Given the description of an element on the screen output the (x, y) to click on. 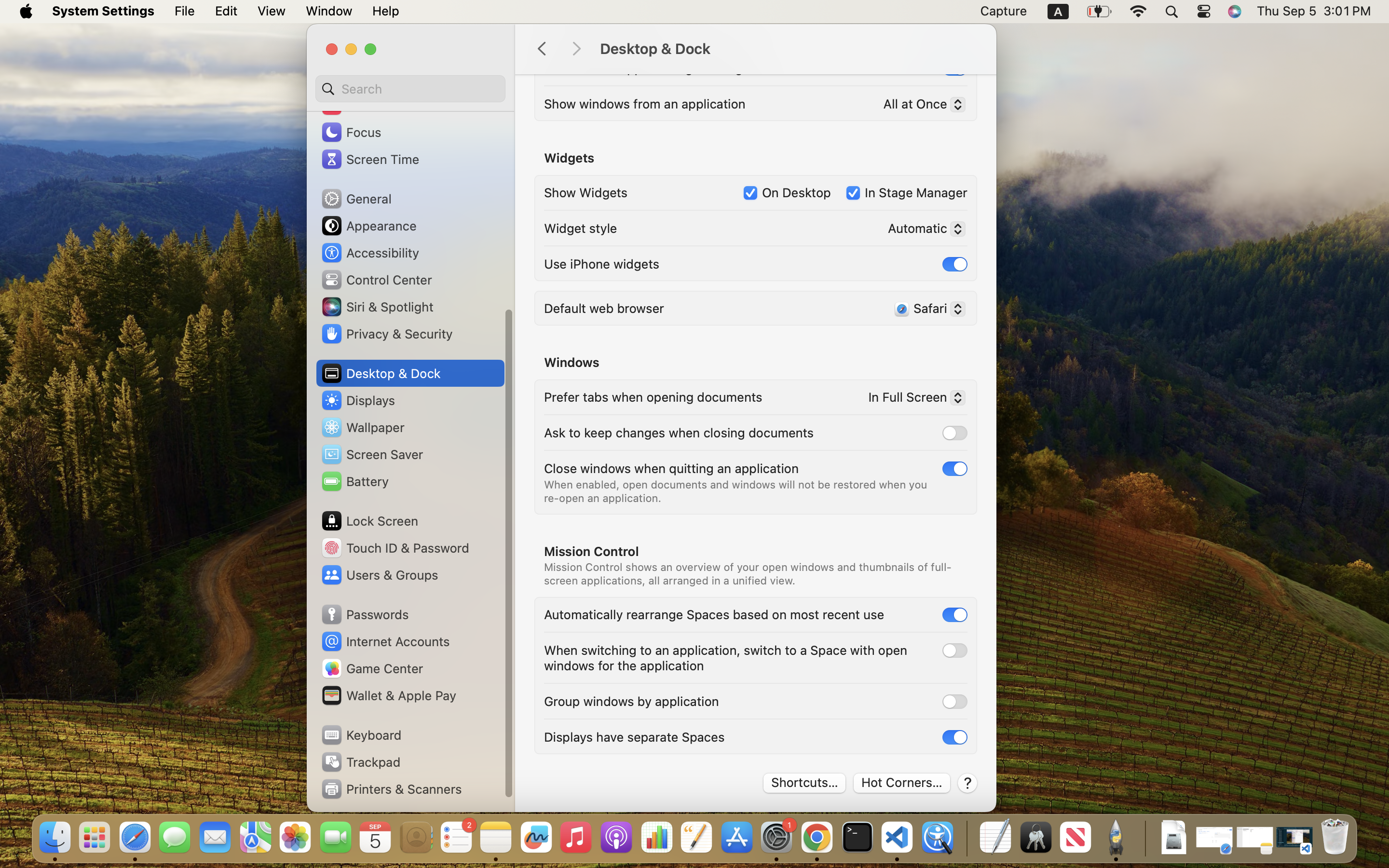
Screen Saver Element type: AXStaticText (371, 453)
Prefer tabs when opening documents Element type: AXStaticText (653, 396)
Wallpaper Element type: AXStaticText (362, 426)
When switching to an application, switch to a Space with open windows for the application Element type: AXStaticText (727, 657)
Touch ID & Password Element type: AXStaticText (394, 547)
